Given the description of an element on the screen output the (x, y) to click on. 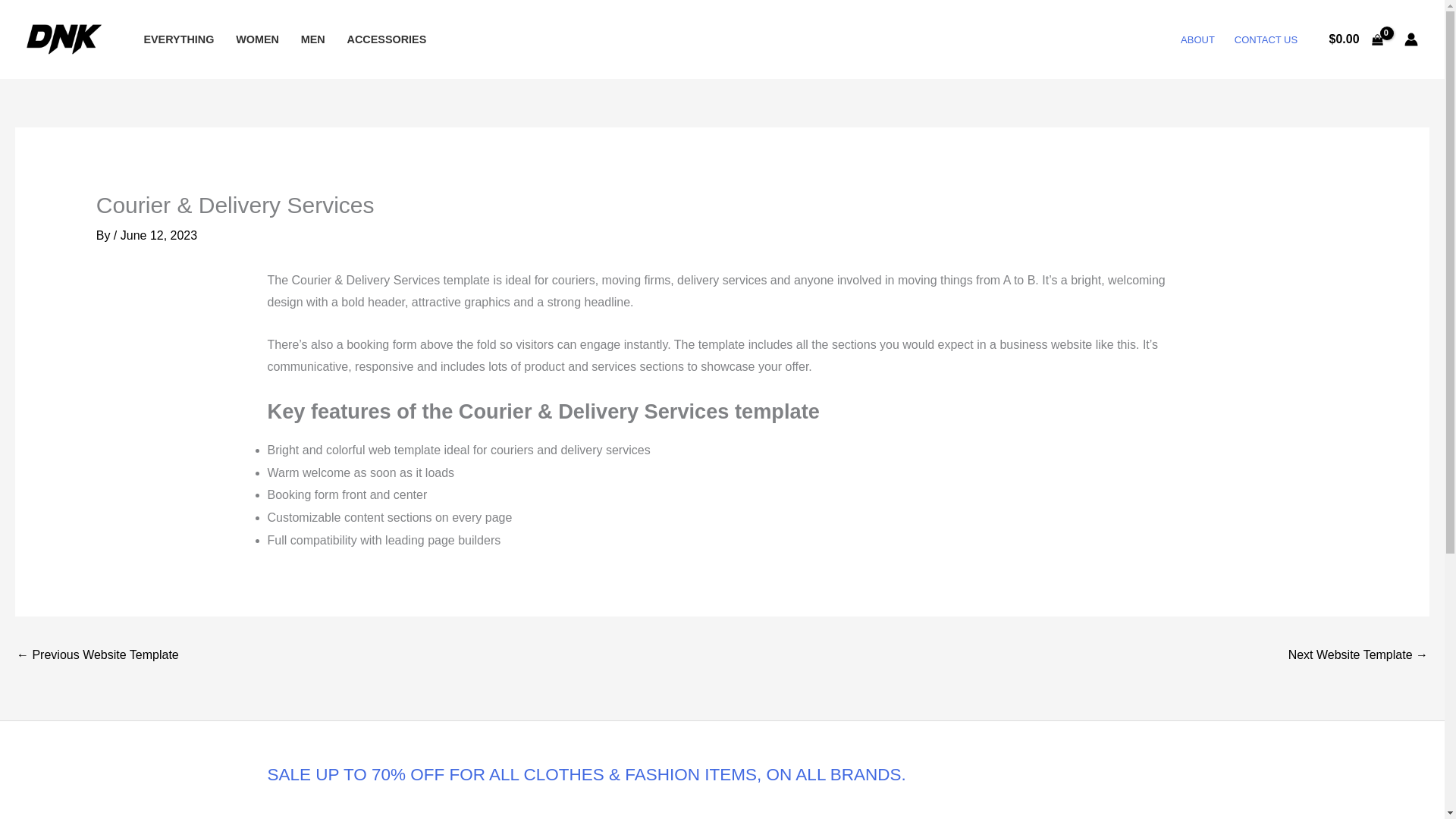
WOMEN (257, 39)
MEN (312, 39)
Freelance Copywriter (97, 656)
ABOUT (1197, 39)
Diagnostics Lab (1358, 656)
ACCESSORIES (387, 39)
CONTACT US (1265, 39)
EVERYTHING (178, 39)
